Given the description of an element on the screen output the (x, y) to click on. 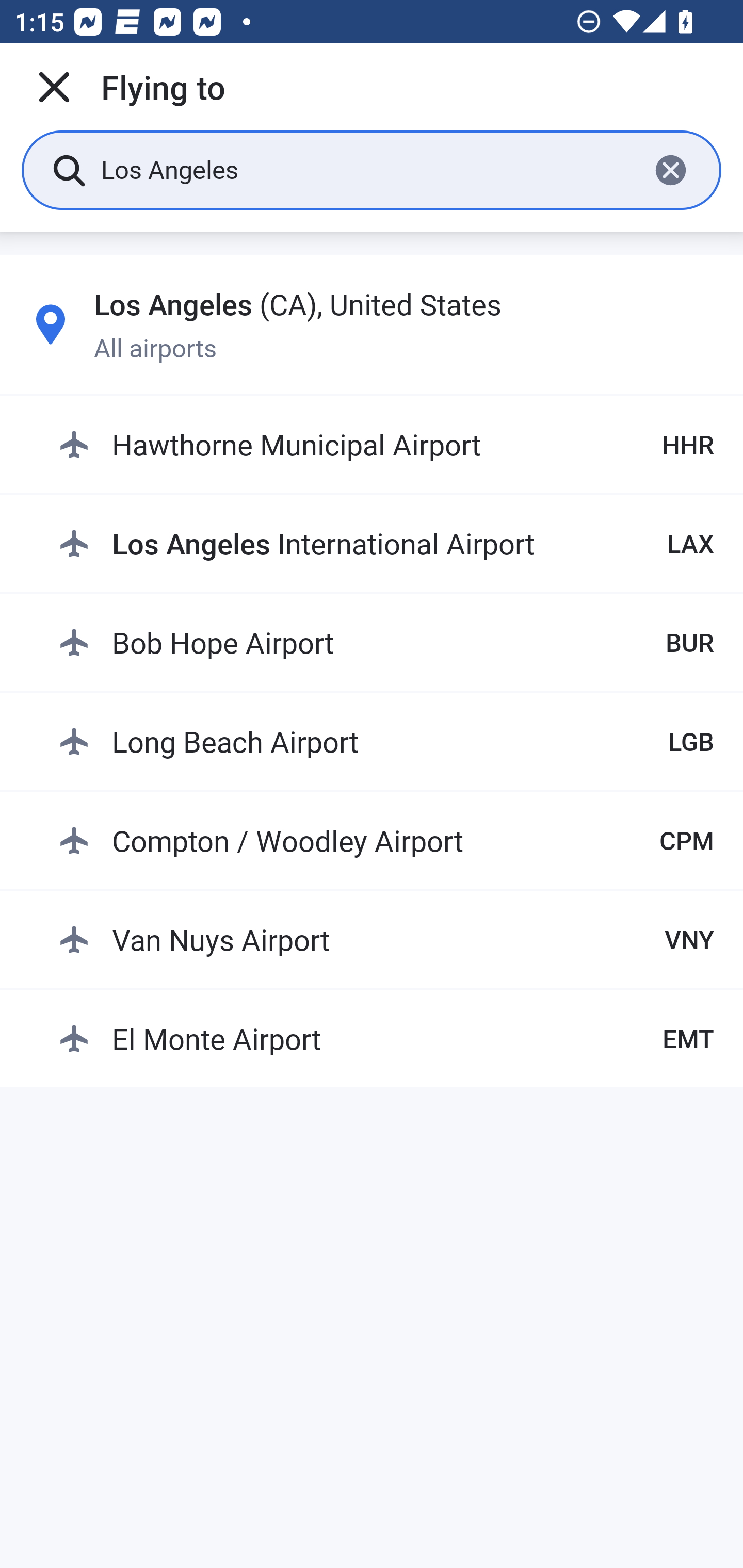
Los Angeles (367, 169)
Los Angeles (CA), United States All airports (371, 324)
Hawthorne Municipal Airport HHR (385, 444)
Los Angeles International Airport LAX (385, 543)
Bob Hope Airport BUR (385, 641)
Long Beach Airport LGB (385, 740)
Compton / Woodley Airport CPM (385, 839)
Van Nuys Airport VNY (385, 939)
El Monte Airport EMT (385, 1038)
